Given the description of an element on the screen output the (x, y) to click on. 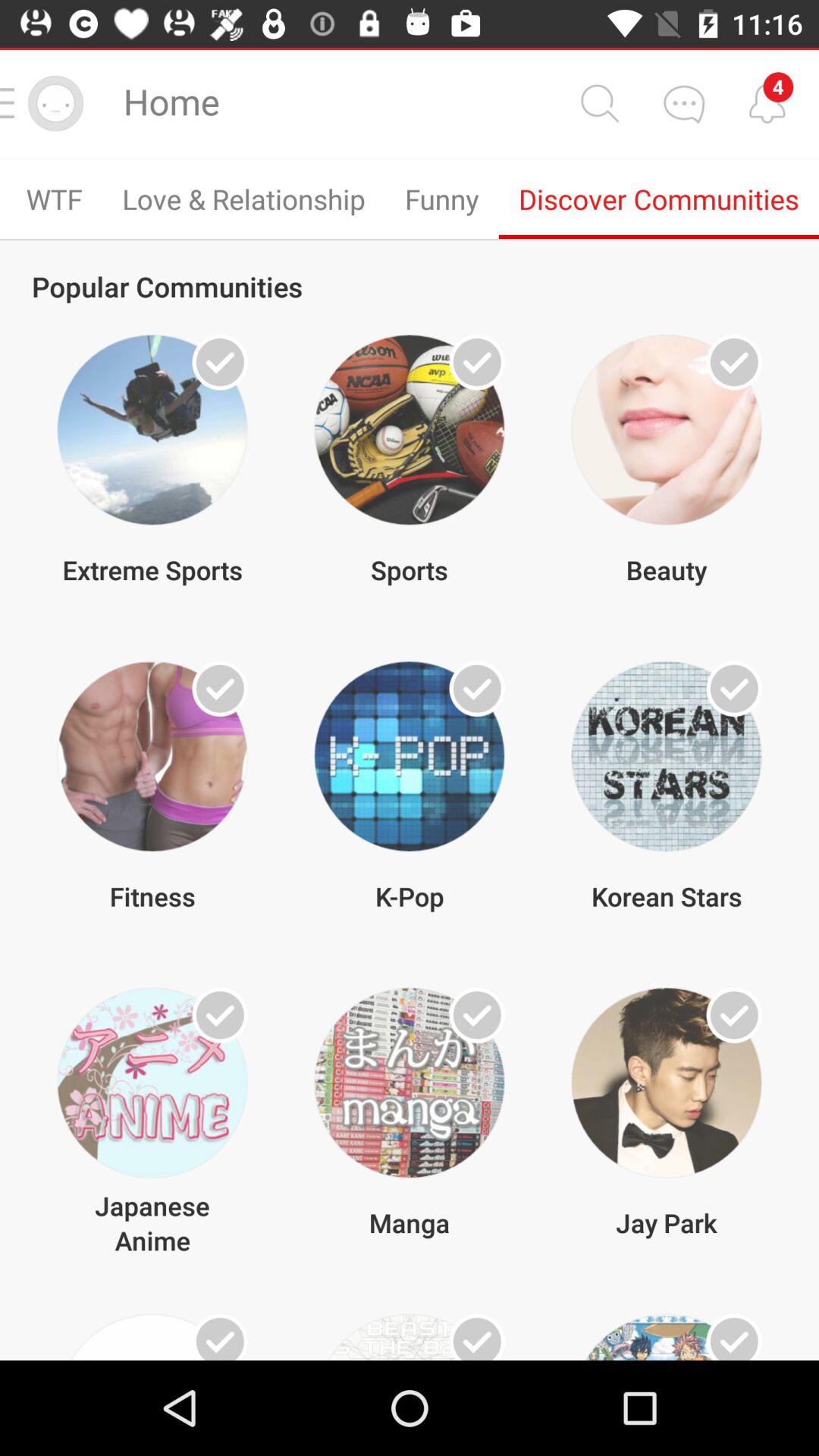
check or uncheck from specific popular communities (477, 362)
